Given the description of an element on the screen output the (x, y) to click on. 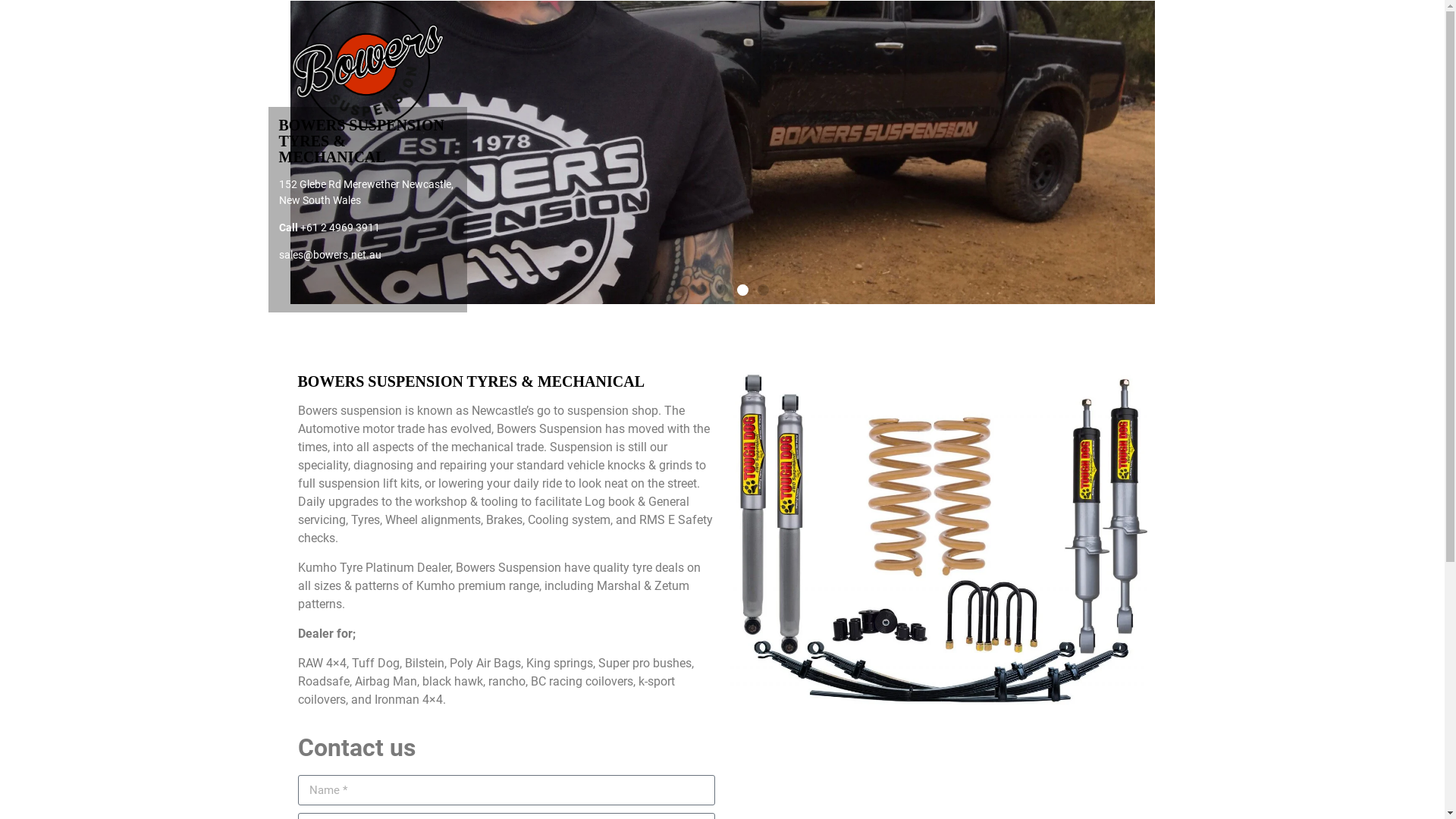
152 Glebe Rd Merewether Newcastle, New South Wales Element type: text (366, 192)
+61 2 4969 3911 Element type: text (339, 227)
sales@bowers.net.au Element type: text (330, 254)
